Given the description of an element on the screen output the (x, y) to click on. 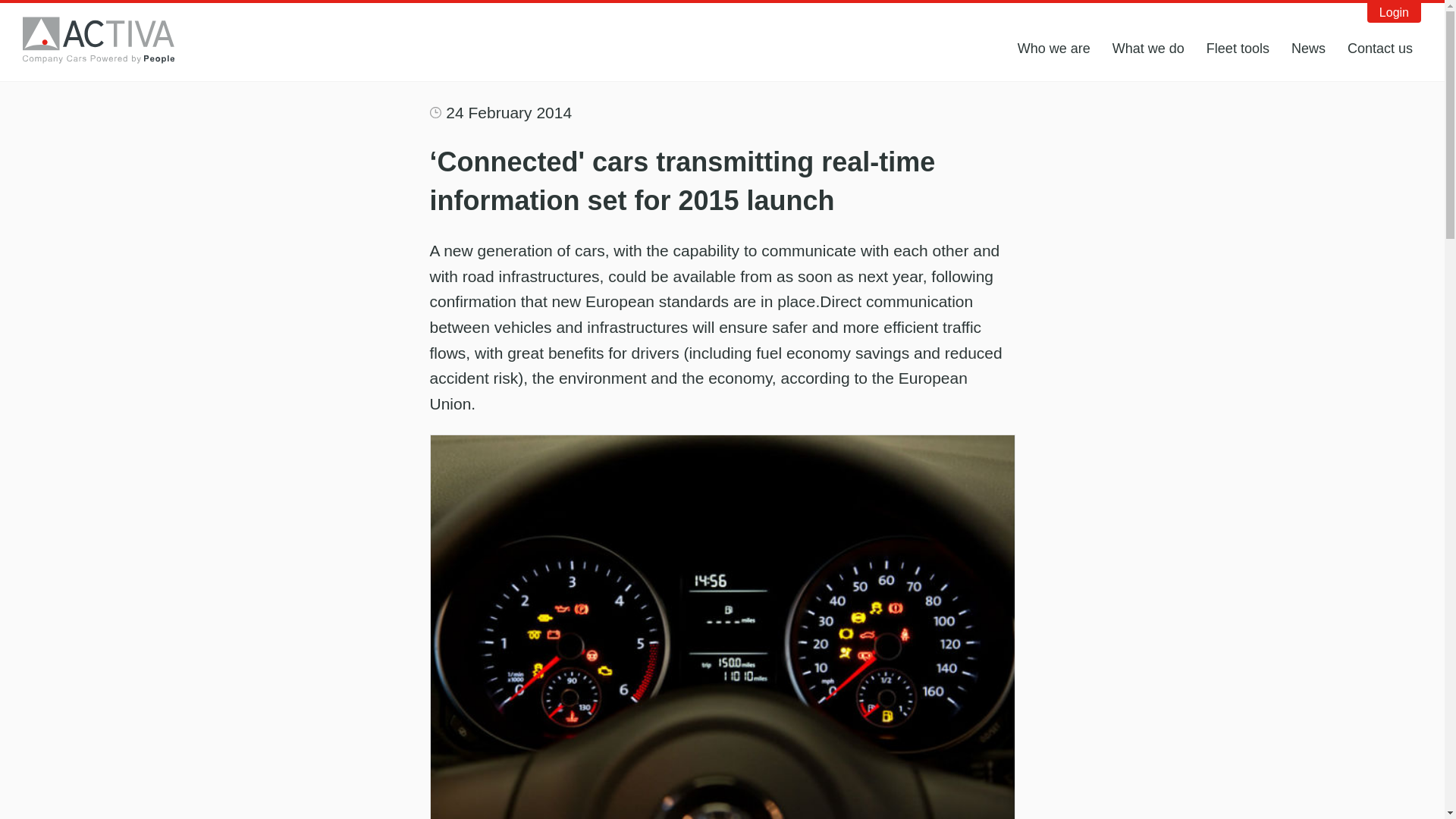
Contact us (1380, 48)
Login (1394, 12)
News (1308, 48)
Activa Contracts (109, 39)
